Given the description of an element on the screen output the (x, y) to click on. 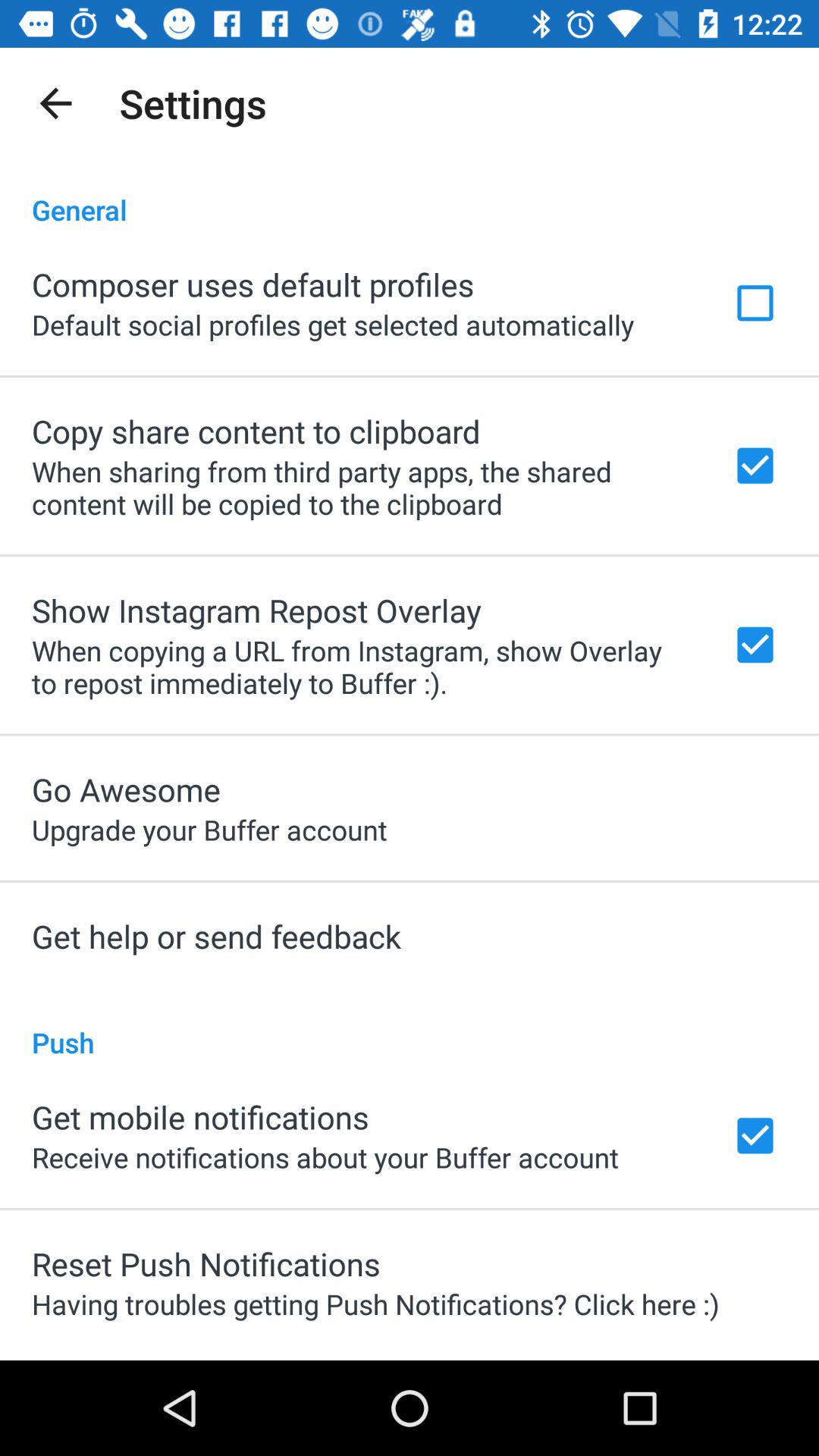
tap the icon below when copying a app (125, 789)
